Given the description of an element on the screen output the (x, y) to click on. 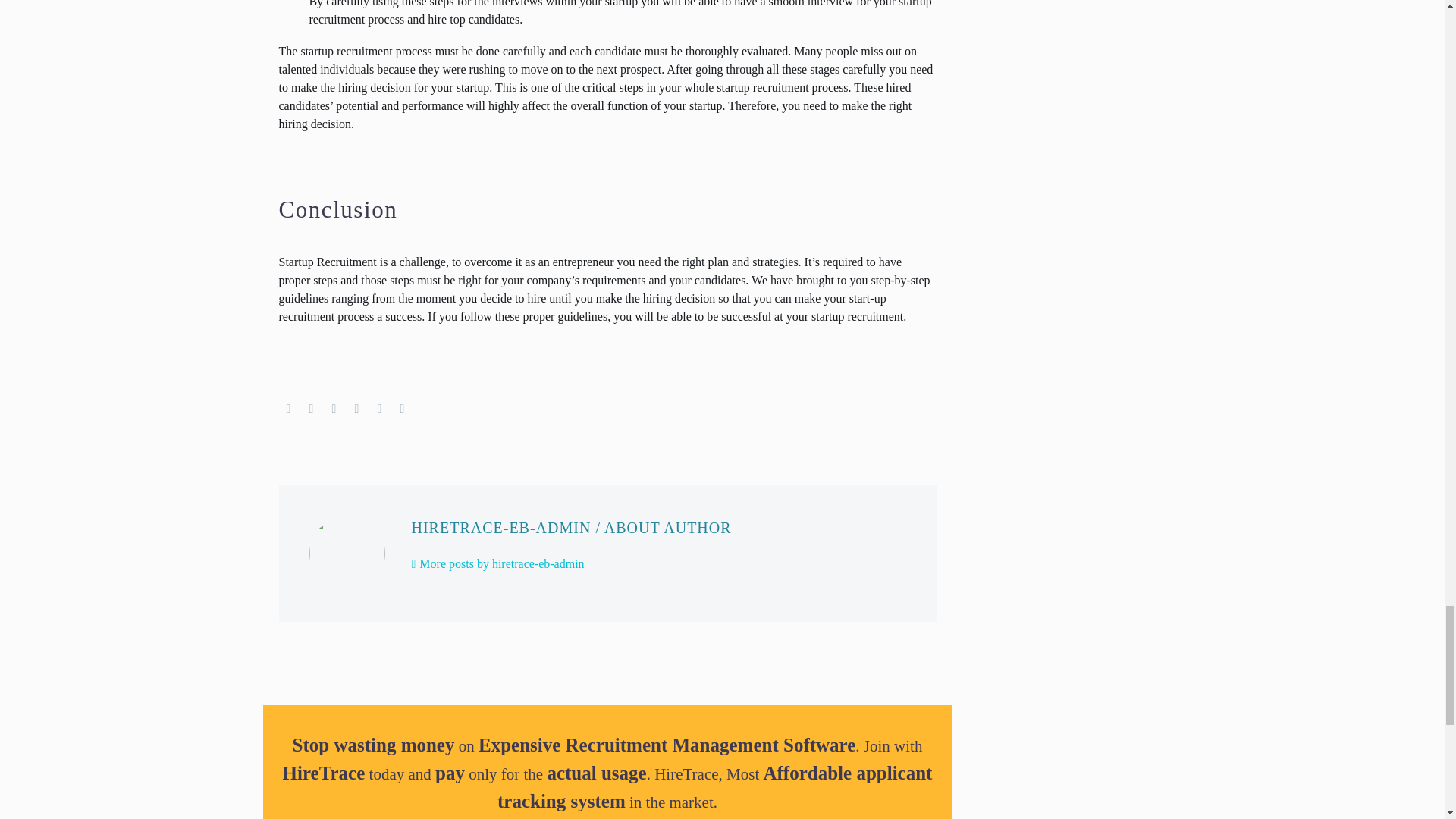
LinkedIn (378, 408)
More posts by hiretrace-eb-admin (496, 563)
Reddit (401, 408)
Tumblr (356, 408)
Pinterest (333, 408)
Facebook (288, 408)
Twitter (310, 408)
